Given the description of an element on the screen output the (x, y) to click on. 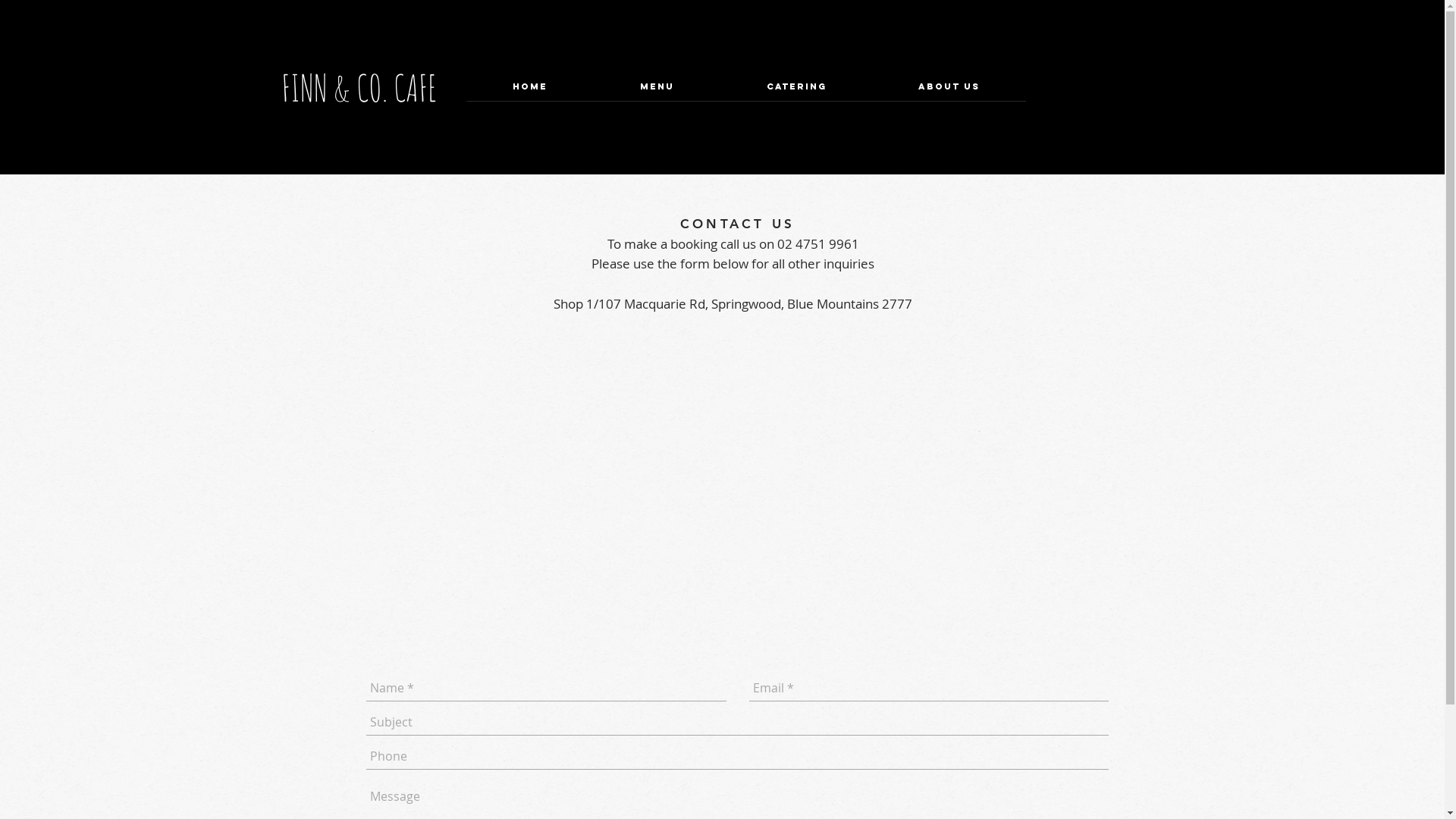
Home Element type: text (529, 91)
Menu Element type: text (656, 91)
Catering Element type: text (796, 91)
Google Maps Element type: hover (723, 484)
About Us Element type: text (948, 91)
